Given the description of an element on the screen output the (x, y) to click on. 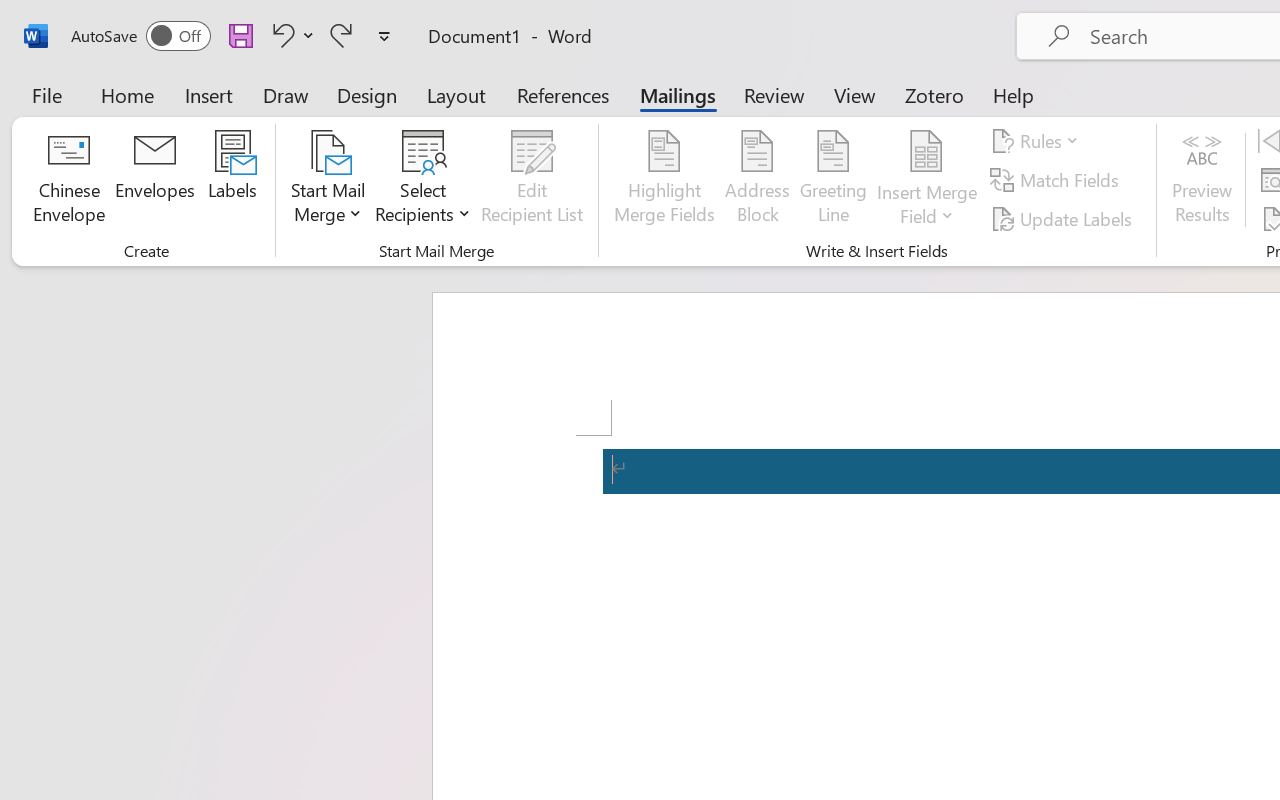
Greeting Line... (833, 179)
Insert Merge Field (927, 179)
Preview Results (1202, 179)
Update Labels (1064, 218)
Rules (1037, 141)
Redo Apply Quick Style (341, 35)
Select Recipients (423, 179)
Undo Apply Quick Style Set (290, 35)
